Given the description of an element on the screen output the (x, y) to click on. 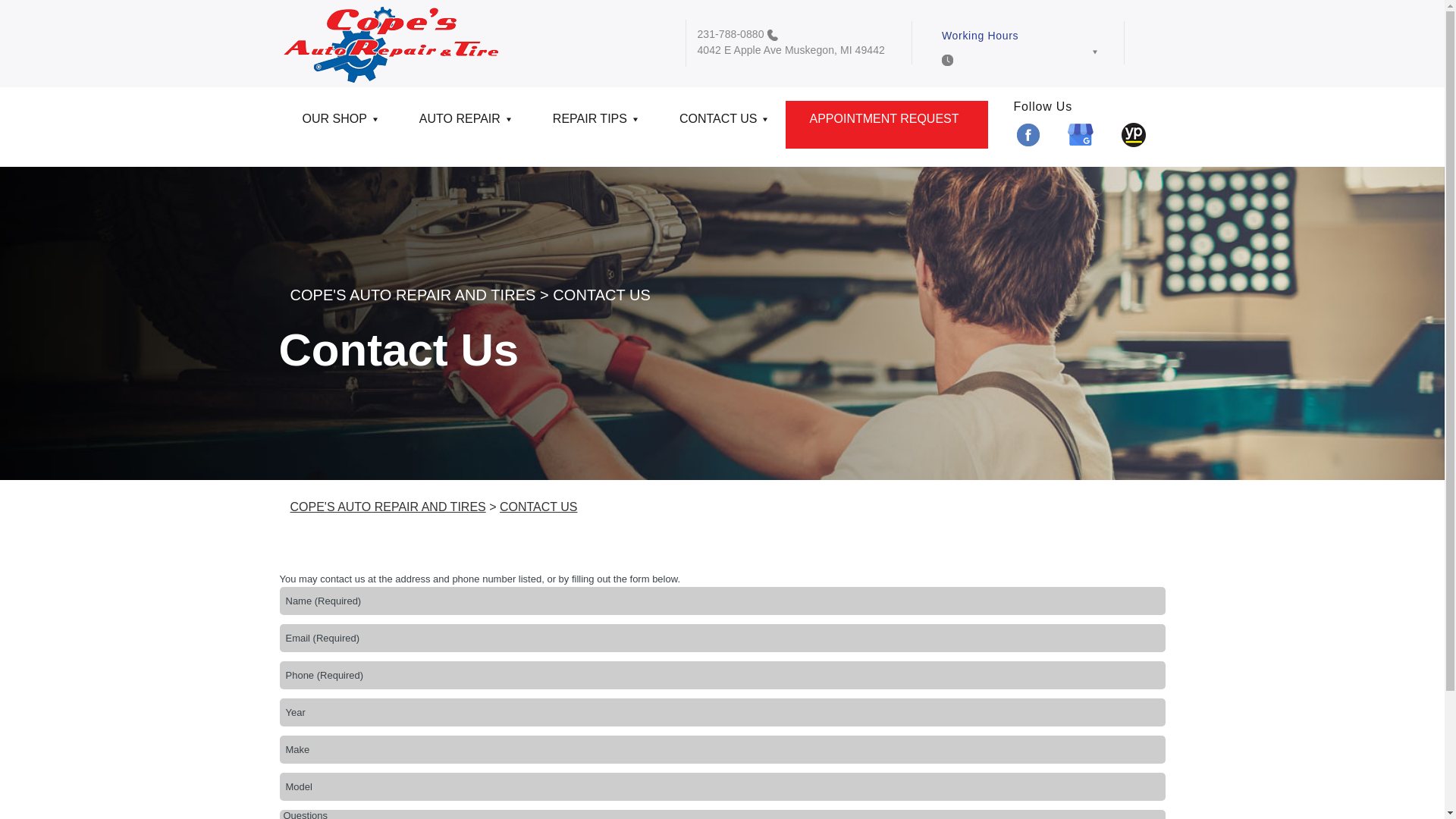
AUTO REPAIR (462, 124)
APPOINTMENT REQUEST (886, 124)
231-788-0880 (730, 33)
REPAIR TIPS (592, 124)
OUR SHOP (337, 124)
CONTACT US (721, 124)
